Given the description of an element on the screen output the (x, y) to click on. 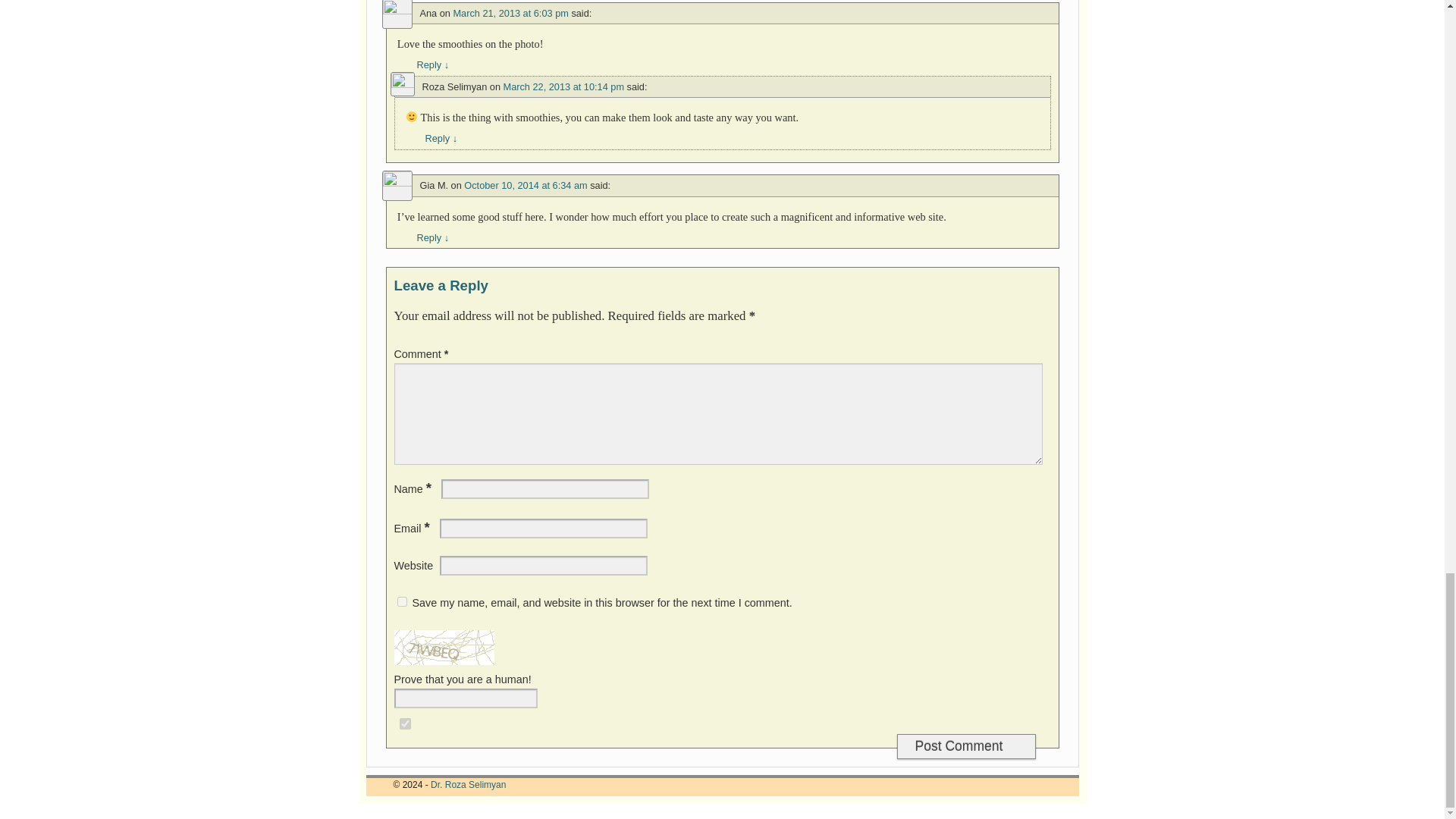
Post Comment (965, 746)
yes (402, 601)
on (404, 723)
Dr. Roza Selimyan (467, 784)
March 21, 2013 at 6:03 pm (509, 12)
